Given the description of an element on the screen output the (x, y) to click on. 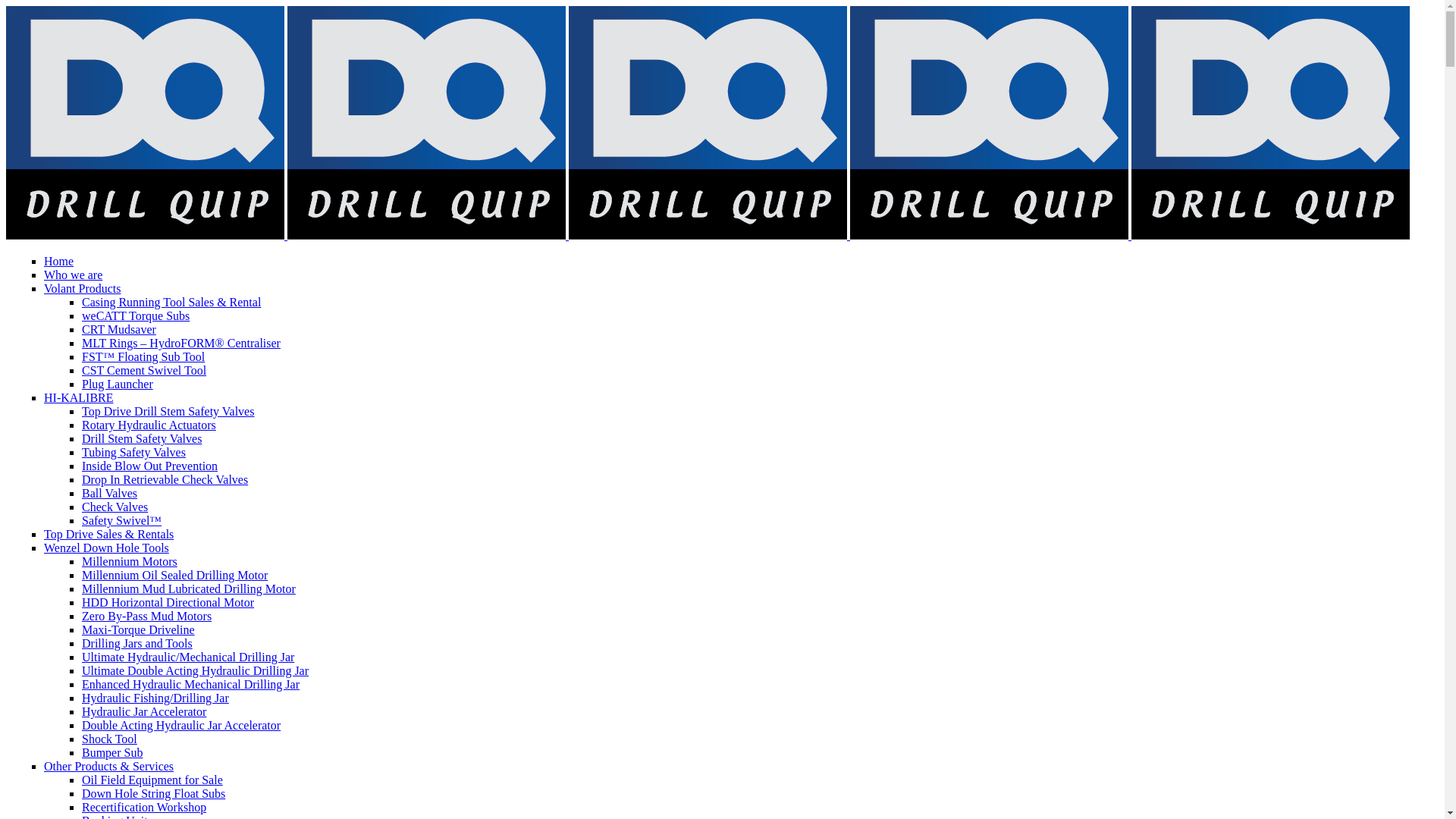
Down Hole String Float Subs Element type: text (153, 793)
Millennium Oil Sealed Drilling Motor Element type: text (174, 574)
Wenzel Down Hole Tools Element type: text (106, 547)
Double Acting Hydraulic Jar Accelerator Element type: text (180, 724)
Ball Valves Element type: text (109, 492)
Casing Running Tool Sales & Rental Element type: text (170, 301)
CST Cement Swivel Tool Element type: text (143, 370)
Ultimate Hydraulic/Mechanical Drilling Jar Element type: text (187, 656)
Recertification Workshop Element type: text (143, 806)
Ultimate Double Acting Hydraulic Drilling Jar Element type: text (194, 670)
Bumper Sub Element type: text (111, 752)
CRT Mudsaver Element type: text (118, 329)
HI-KALIBRE Element type: text (78, 397)
Millennium Motors Element type: text (129, 561)
Volant Products Element type: text (81, 288)
Inside Blow Out Prevention Element type: text (149, 465)
Drill Stem Safety Valves Element type: text (141, 438)
Enhanced Hydraulic Mechanical Drilling Jar Element type: text (190, 683)
Millennium Mud Lubricated Drilling Motor Element type: text (188, 588)
Zero By-Pass Mud Motors Element type: text (146, 615)
Top Drive Drill Stem Safety Valves Element type: text (167, 410)
Drop In Retrievable Check Valves Element type: text (164, 479)
Hydraulic Fishing/Drilling Jar Element type: text (155, 697)
Tubing Safety Valves Element type: text (133, 451)
Maxi-Torque Driveline Element type: text (137, 629)
weCATT Torque Subs Element type: text (135, 315)
Drilling Jars and Tools Element type: text (136, 643)
Rotary Hydraulic Actuators Element type: text (148, 424)
Top Drive Sales & Rentals Element type: text (108, 533)
Who we are Element type: text (72, 274)
Hydraulic Jar Accelerator Element type: text (143, 711)
Home Element type: text (58, 260)
Oil Field Equipment for Sale Element type: text (151, 779)
Other Products & Services Element type: text (108, 765)
Check Valves Element type: text (114, 506)
Shock Tool Element type: text (109, 738)
Plug Launcher Element type: text (117, 383)
HDD Horizontal Directional Motor Element type: text (167, 602)
